Given the description of an element on the screen output the (x, y) to click on. 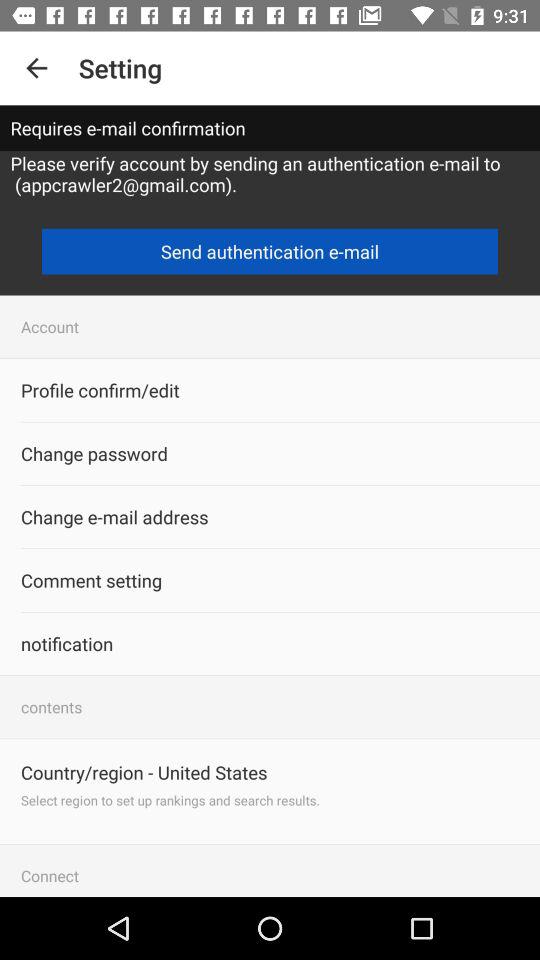
turn on item to the left of the setting (36, 68)
